Given the description of an element on the screen output the (x, y) to click on. 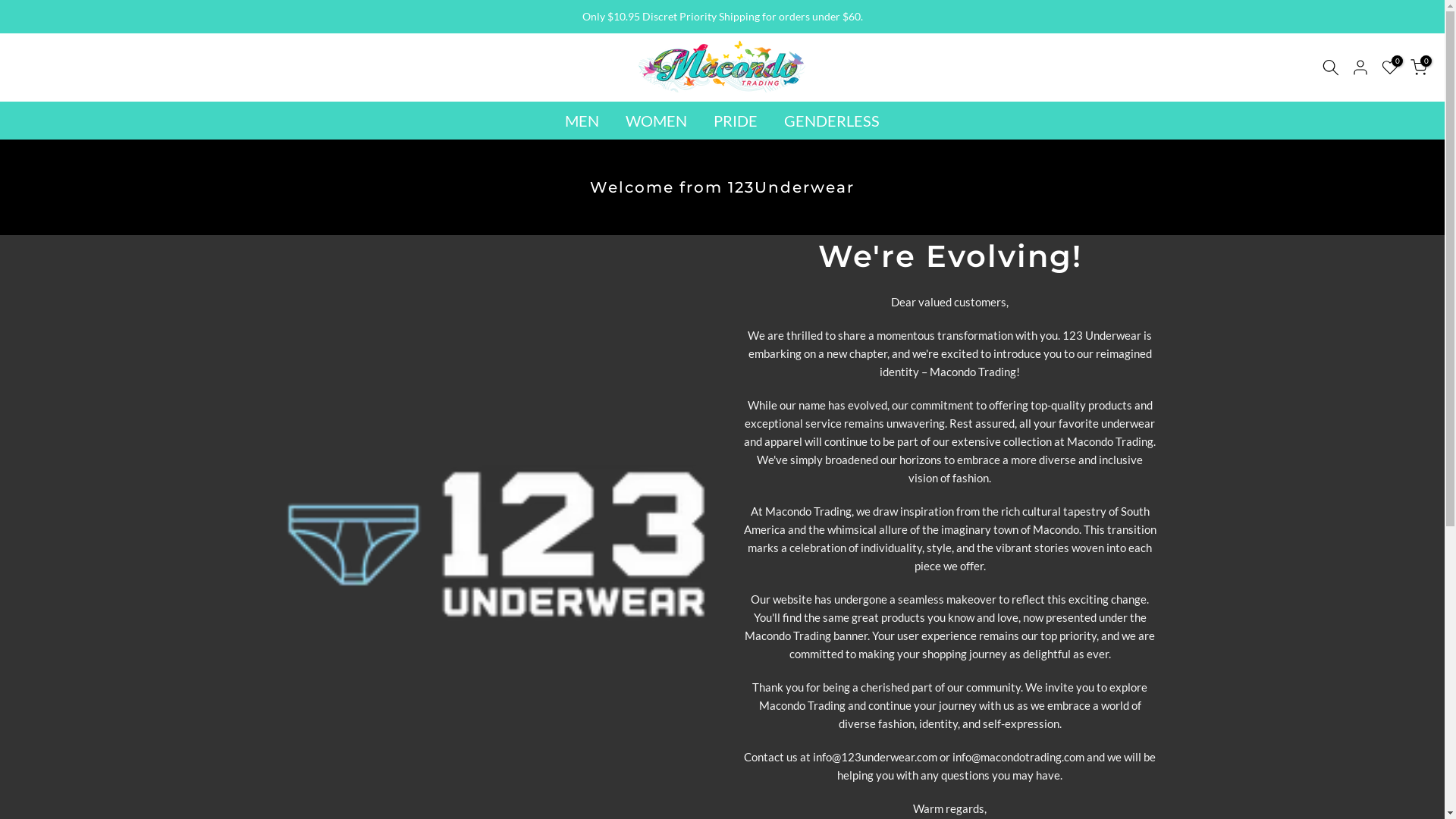
MEN Element type: text (582, 120)
WOMEN Element type: text (656, 120)
PRIDE Element type: text (735, 120)
GENDERLESS Element type: text (831, 120)
0 Element type: text (1389, 67)
0 Element type: text (1418, 67)
